Given the description of an element on the screen output the (x, y) to click on. 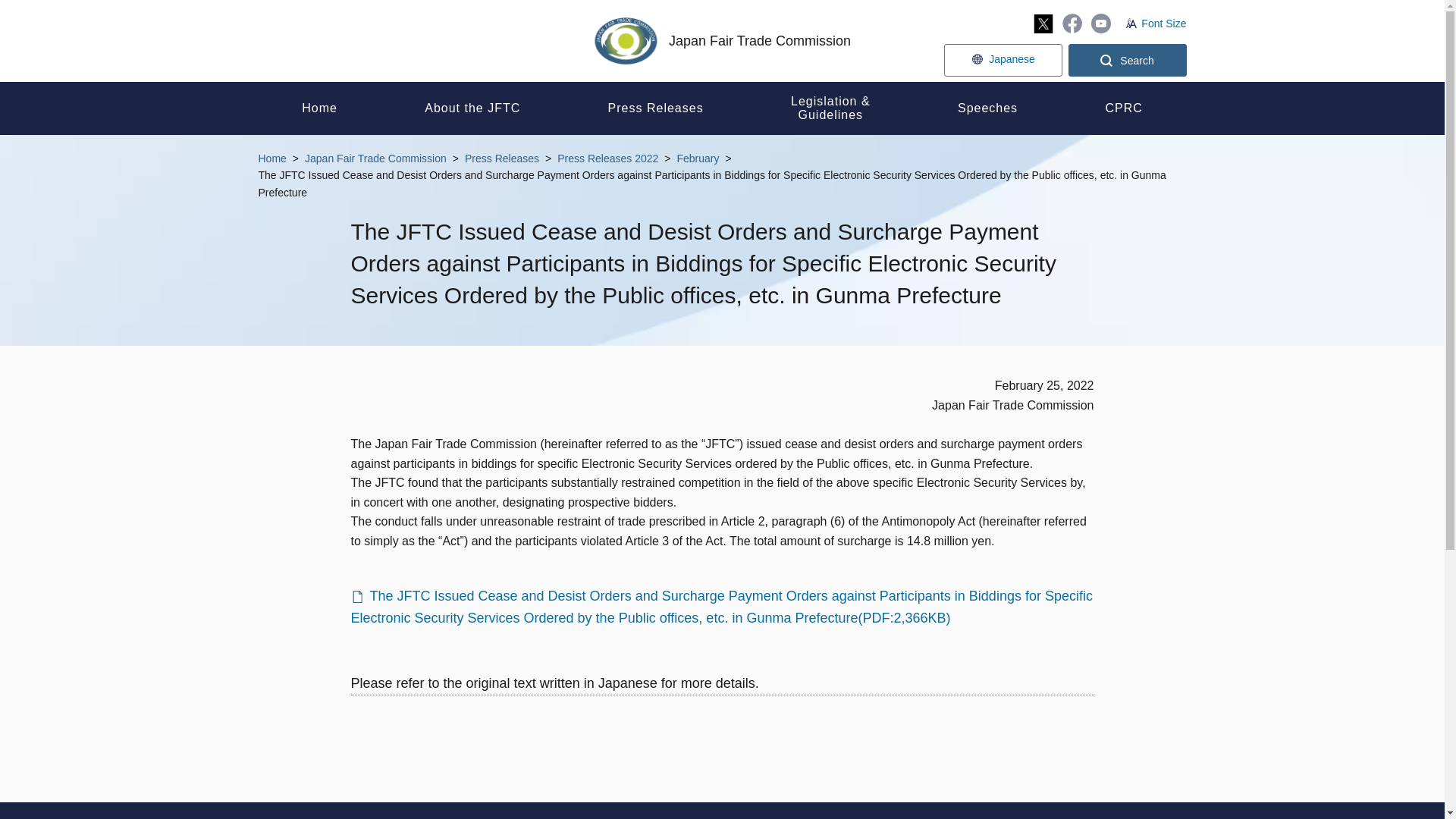
Home (318, 108)
Japanese (1002, 60)
Japan Fair Trade Commission (722, 40)
Search (1126, 60)
Font Size (1155, 23)
About the JFTC (472, 108)
Press Releases (655, 108)
